Given the description of an element on the screen output the (x, y) to click on. 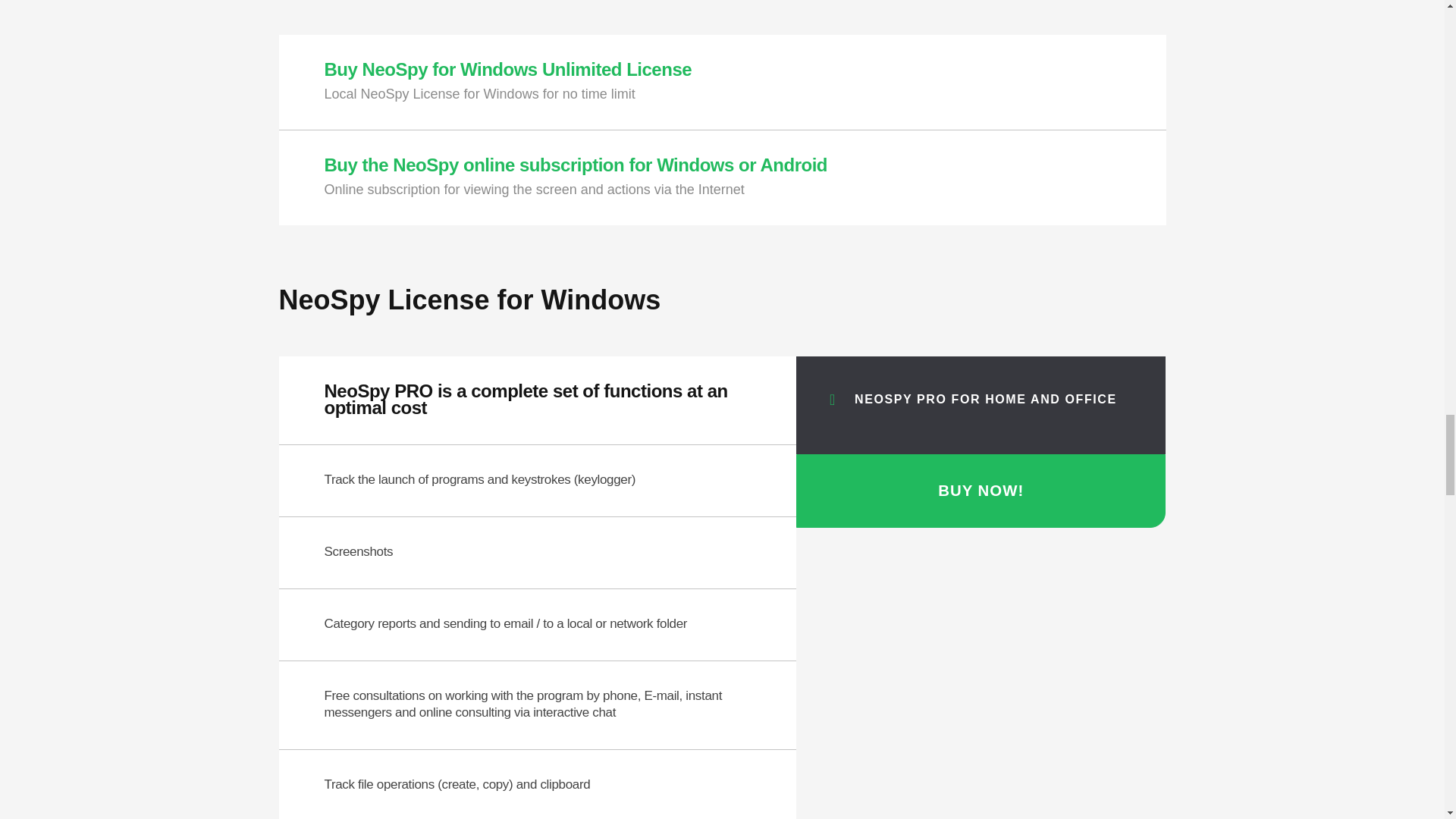
NEOSPY PRO FOR HOME AND OFFICE (989, 399)
BUY NOW! (981, 490)
Buy the NeoSpy online subscription for Windows or Android (576, 164)
Buy NeoSpy for Windows Unlimited License (508, 68)
